Given the description of an element on the screen output the (x, y) to click on. 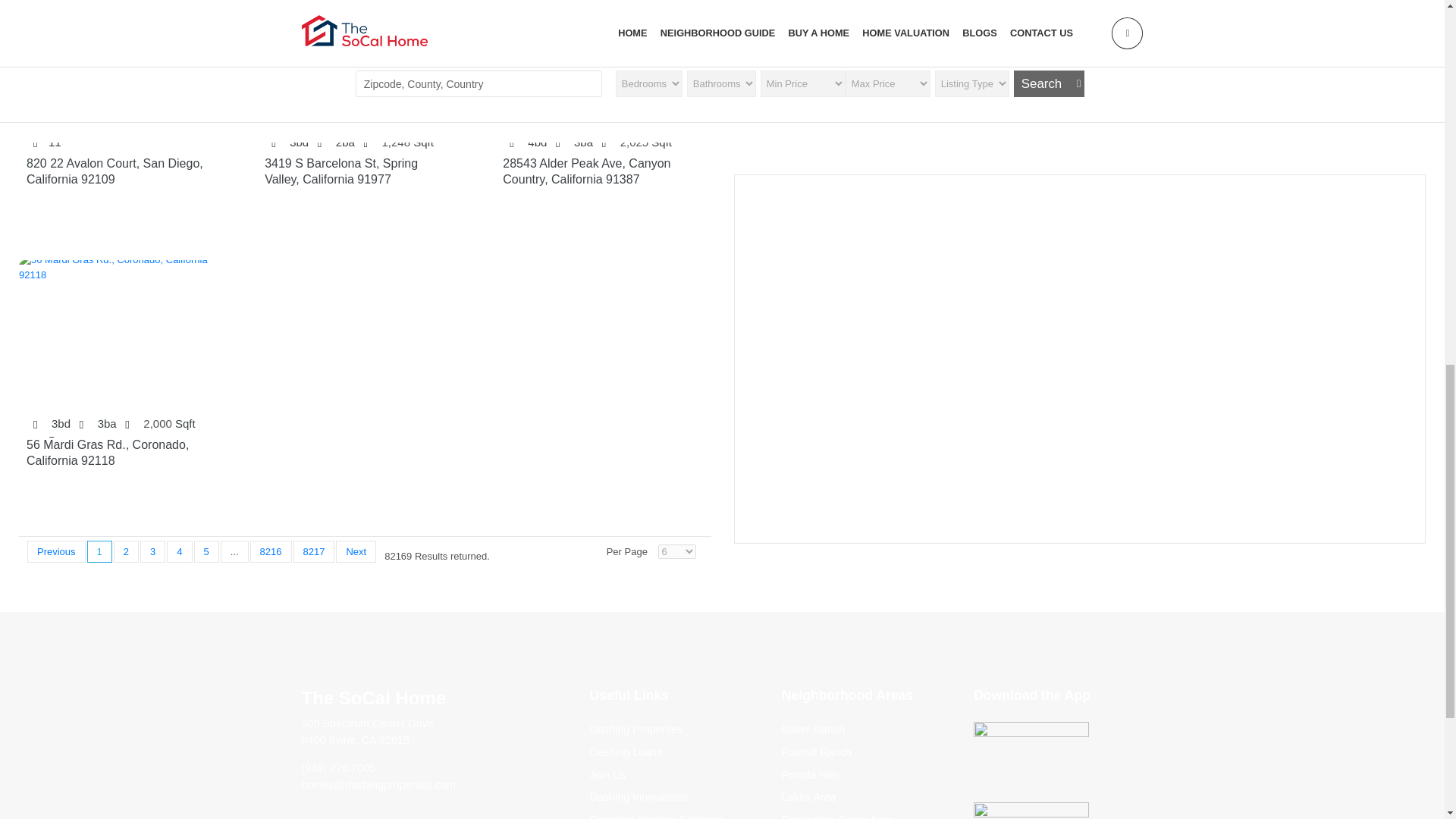
Residential For Sale (602, 172)
Residential Income For Sale (126, 172)
Residential For Sale (364, 172)
Residential Lease For Rent (126, 453)
